Given the description of an element on the screen output the (x, y) to click on. 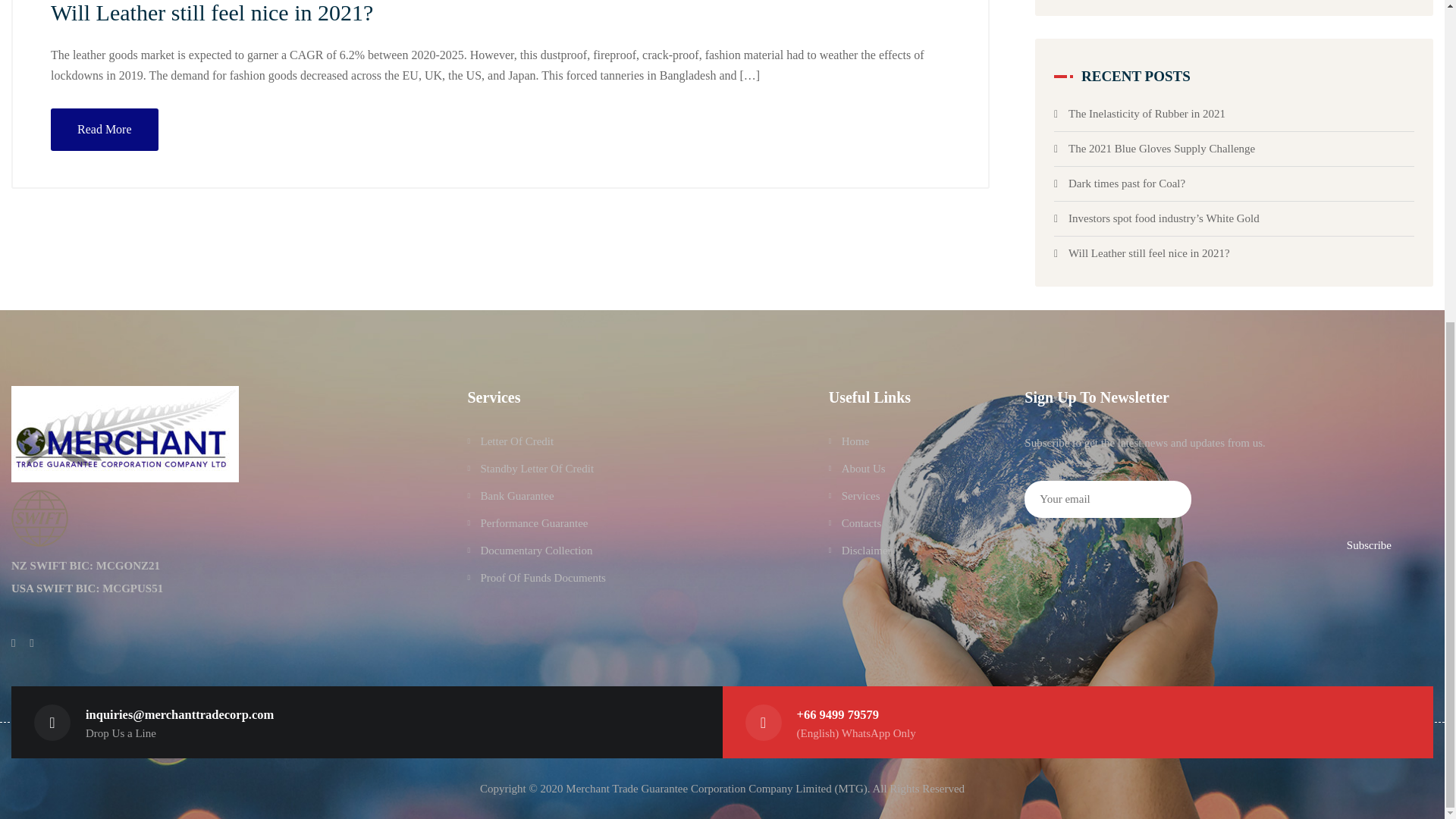
Will Leather still feel nice in 2021? (211, 12)
Read More (1365, 533)
